Given the description of an element on the screen output the (x, y) to click on. 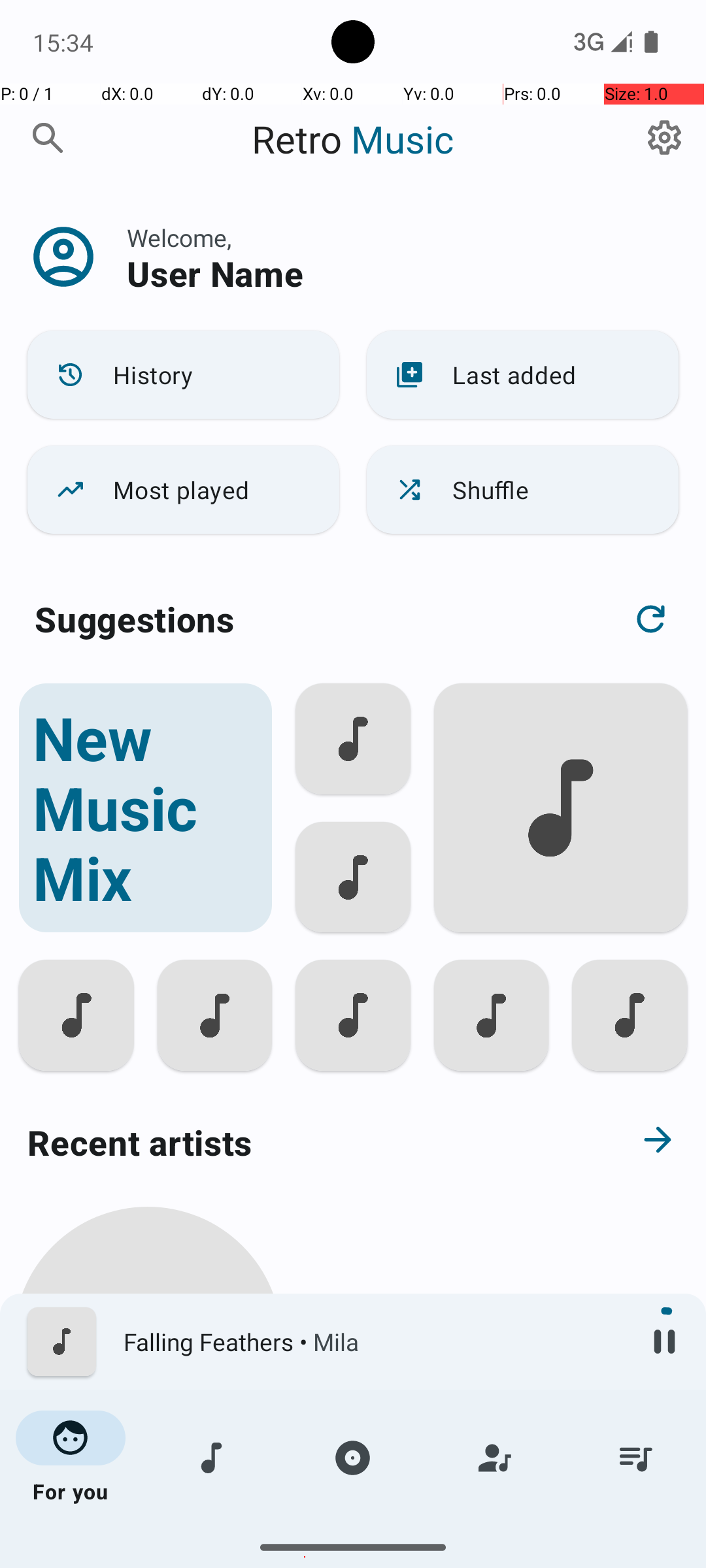
Falling Feathers • Mila Element type: android.widget.TextView (372, 1341)
Mohammad Element type: android.widget.TextView (147, 1503)
